Given the description of an element on the screen output the (x, y) to click on. 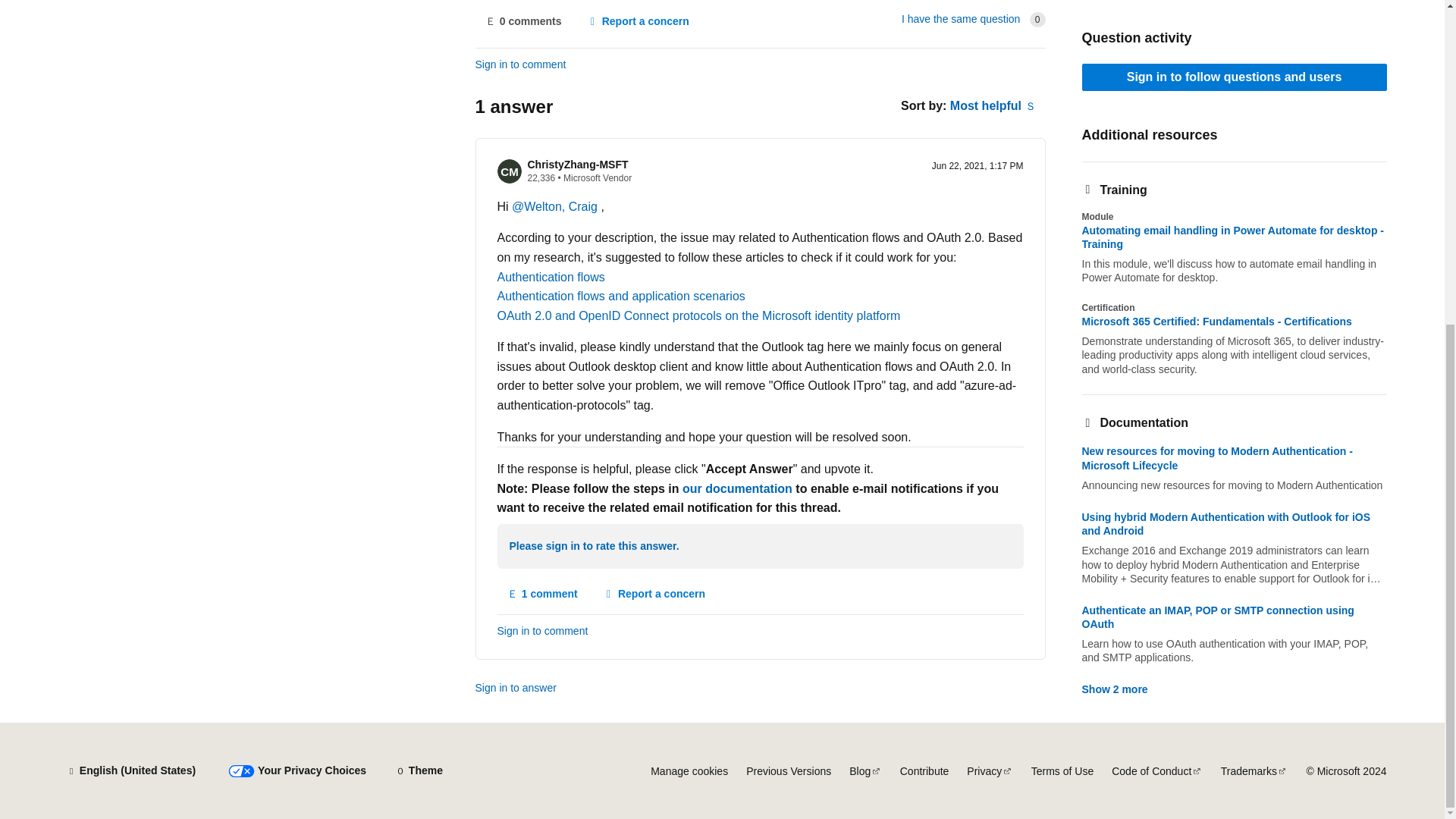
No comments (522, 22)
Show comments for this answer (542, 594)
You have the same or similar question (960, 19)
Reputation points (541, 177)
Report a concern (654, 594)
Report a concern (637, 22)
